Given the description of an element on the screen output the (x, y) to click on. 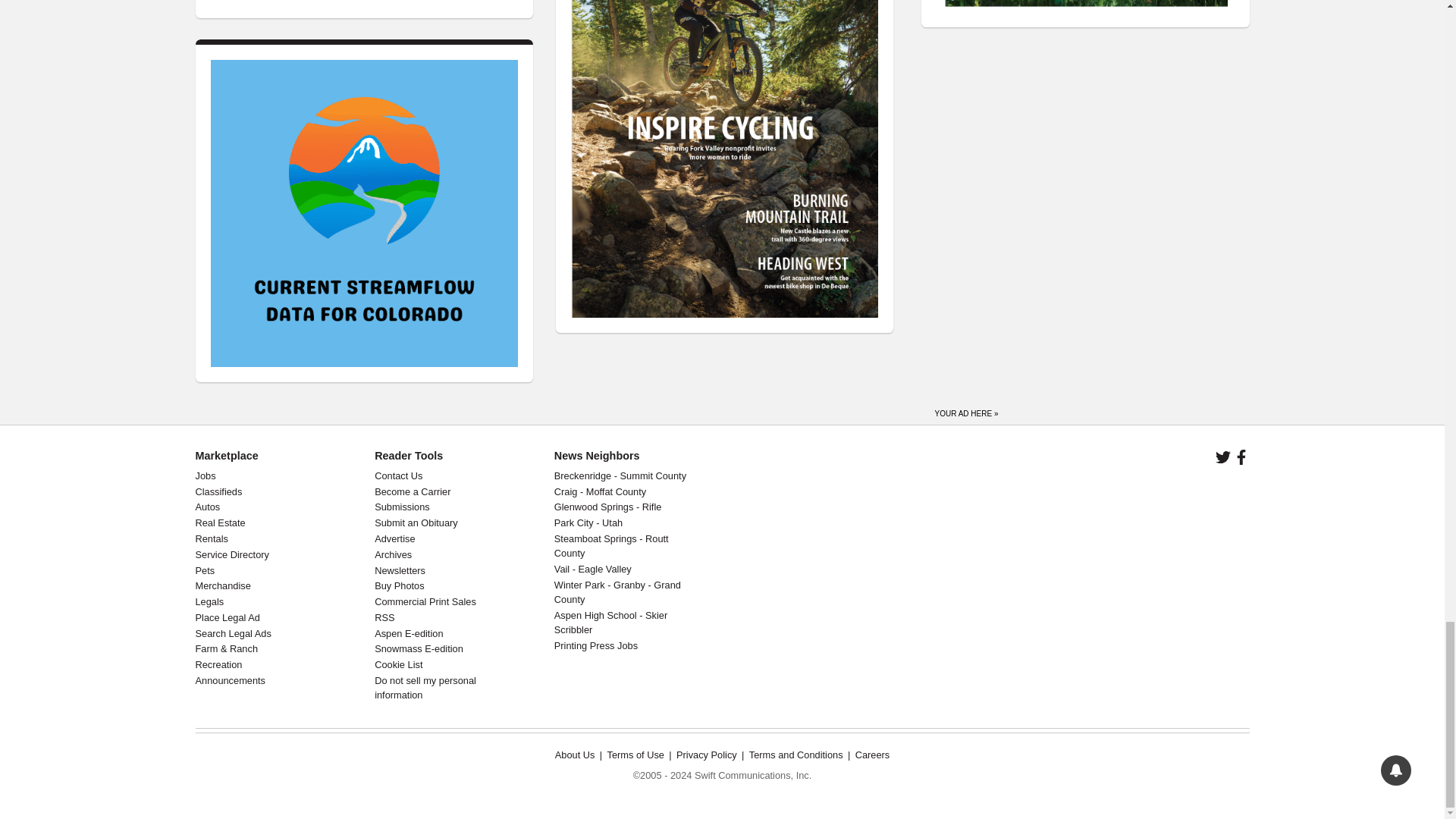
Your Ad Here (966, 409)
View Results Of This Poll (480, 0)
